Given the description of an element on the screen output the (x, y) to click on. 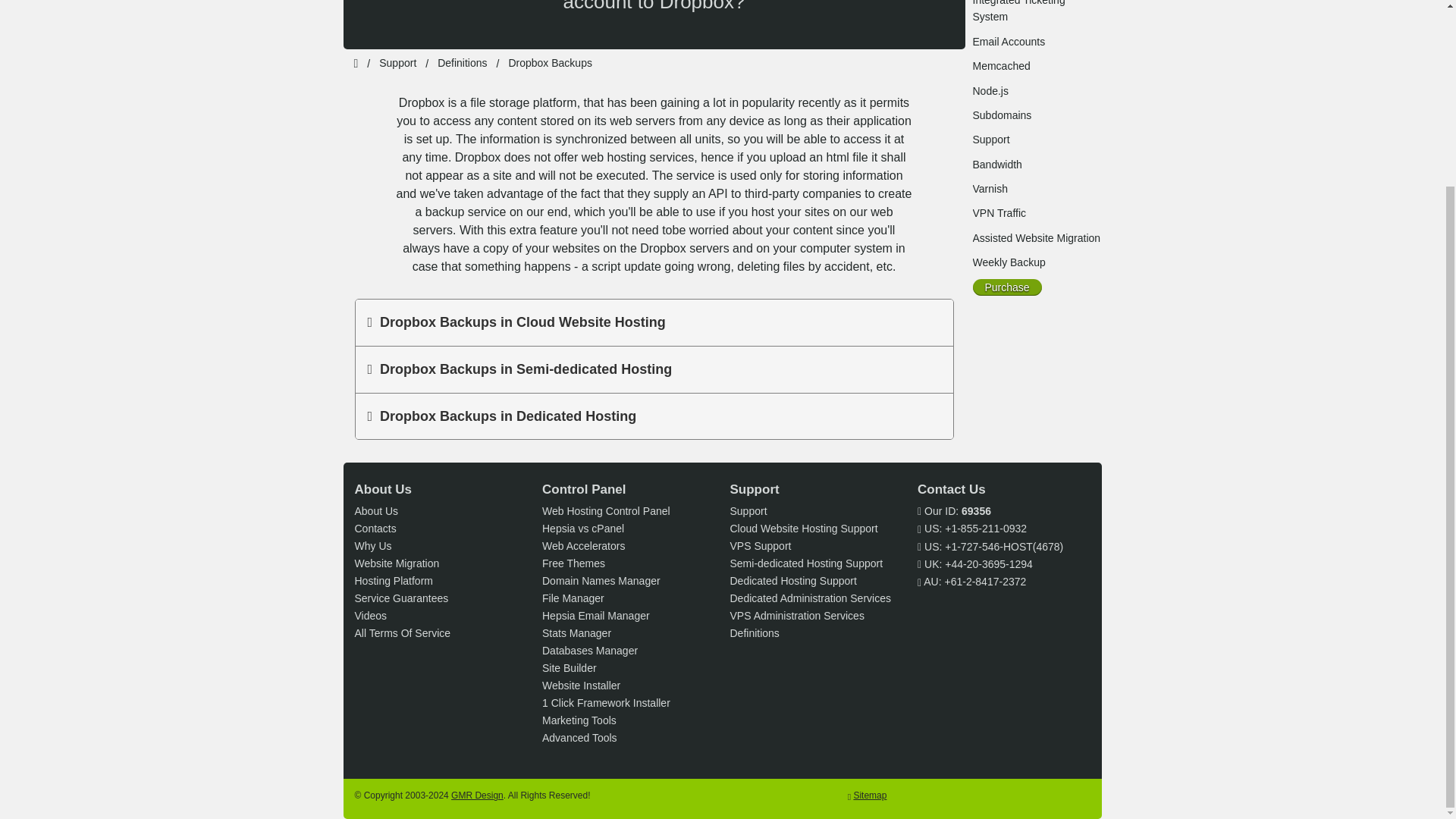
Email Accounts (1008, 41)
Bandwidth (997, 164)
Subdomains (1001, 114)
Weekly Backup (1008, 262)
VPN Traffic (999, 213)
Support (397, 62)
Assisted Website Migration (1036, 237)
Support (990, 139)
Memcached (1000, 65)
Node.js (989, 91)
